Given the description of an element on the screen output the (x, y) to click on. 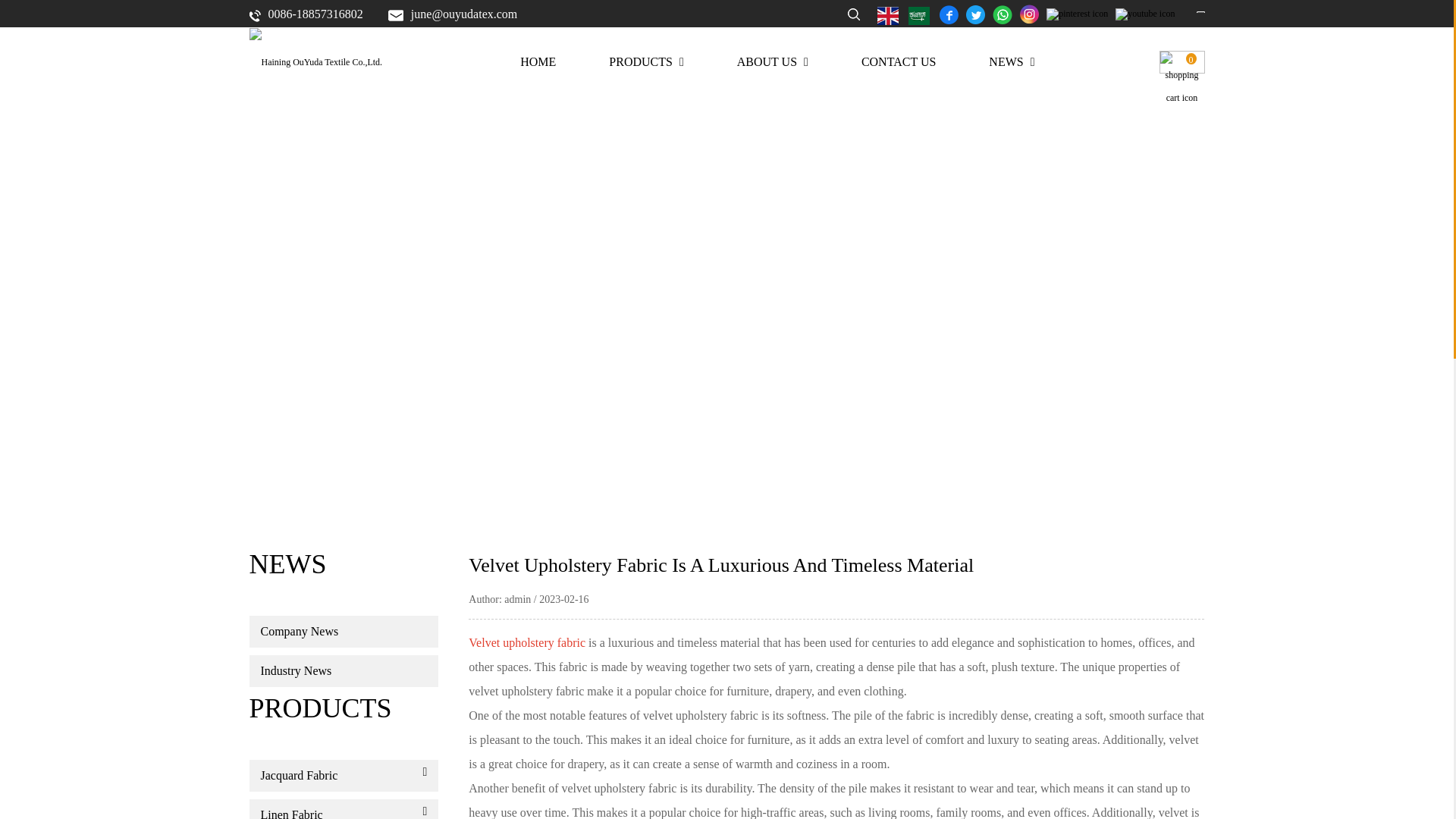
ABOUT US (772, 61)
0086-18857316802 (305, 13)
PRODUCTS (645, 61)
CONTACT US (898, 61)
